Given the description of an element on the screen output the (x, y) to click on. 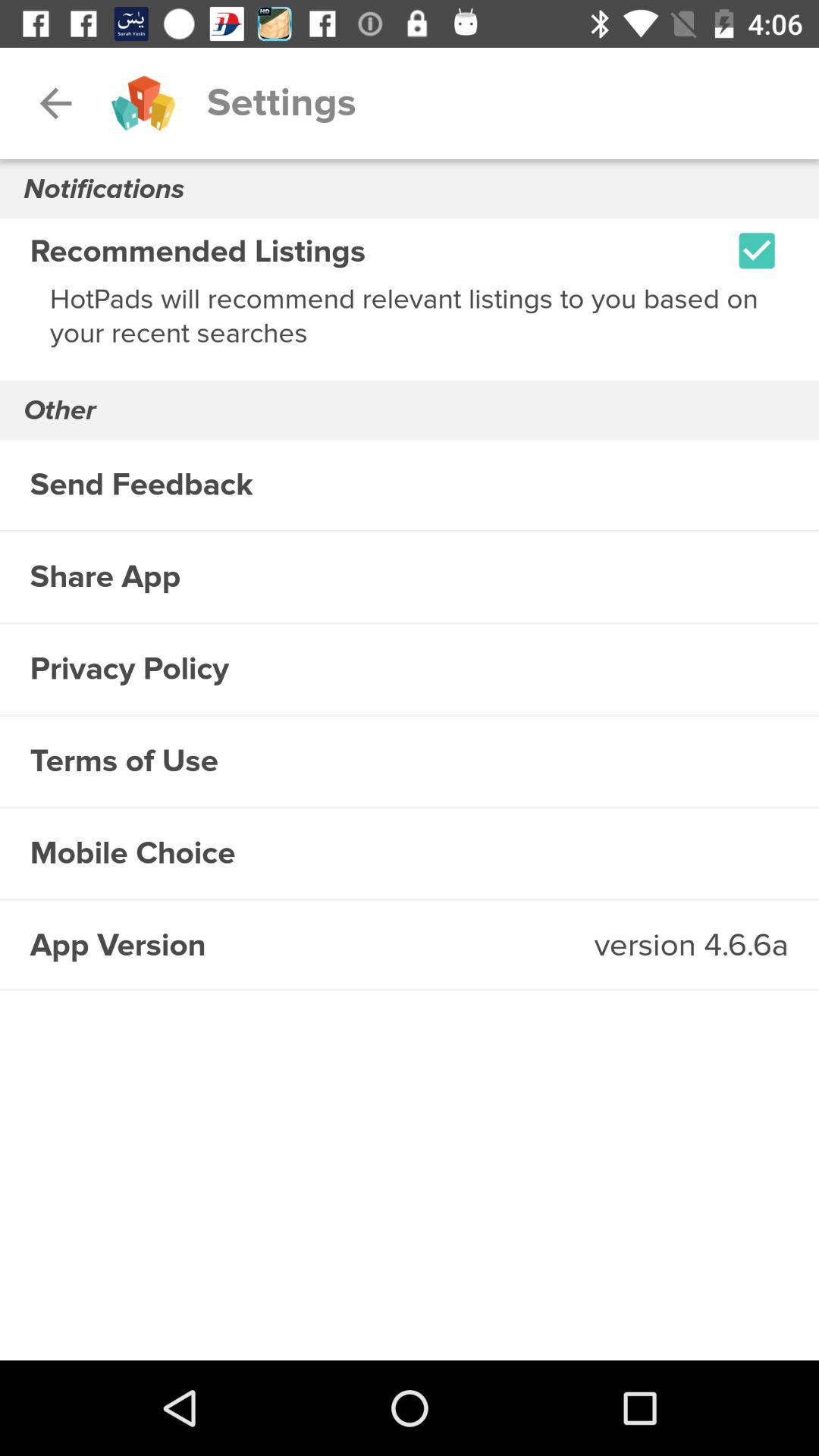
swipe until the terms of use item (409, 761)
